Given the description of an element on the screen output the (x, y) to click on. 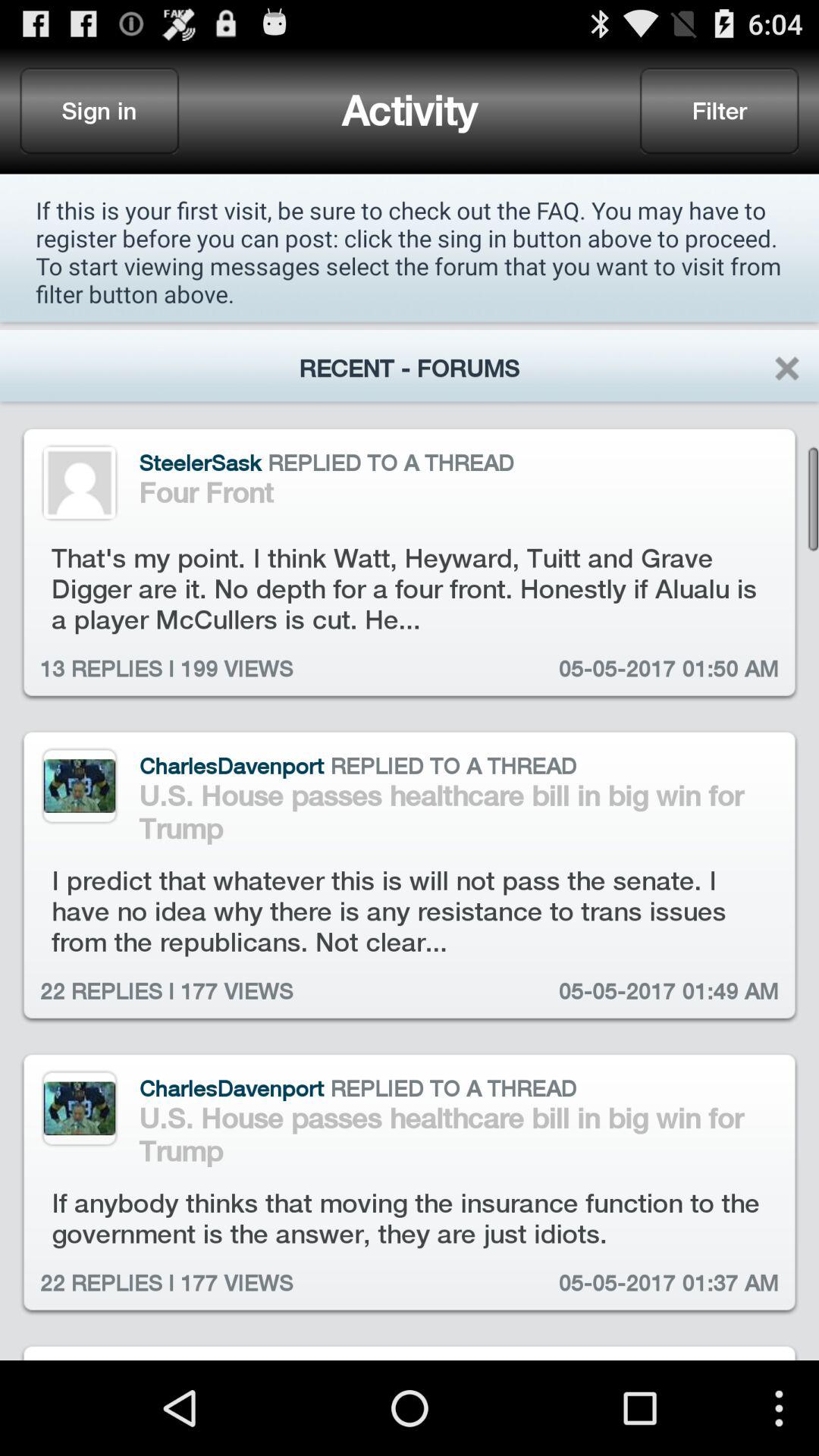
user profile picture (79, 482)
